Given the description of an element on the screen output the (x, y) to click on. 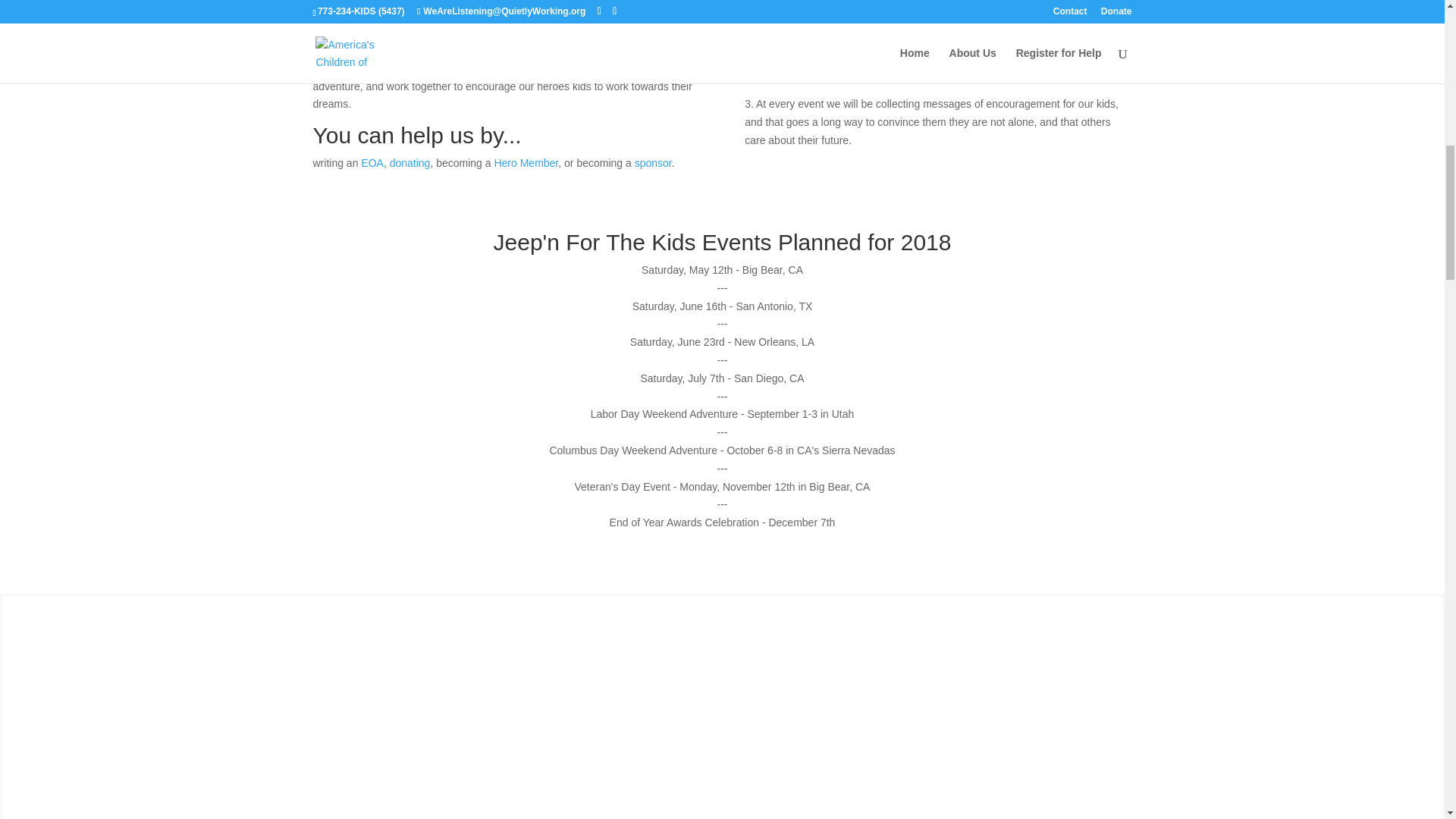
Hero Member (525, 162)
sponsor (652, 162)
EOA (372, 162)
donating (410, 162)
Dream Development Project (928, 66)
